Given the description of an element on the screen output the (x, y) to click on. 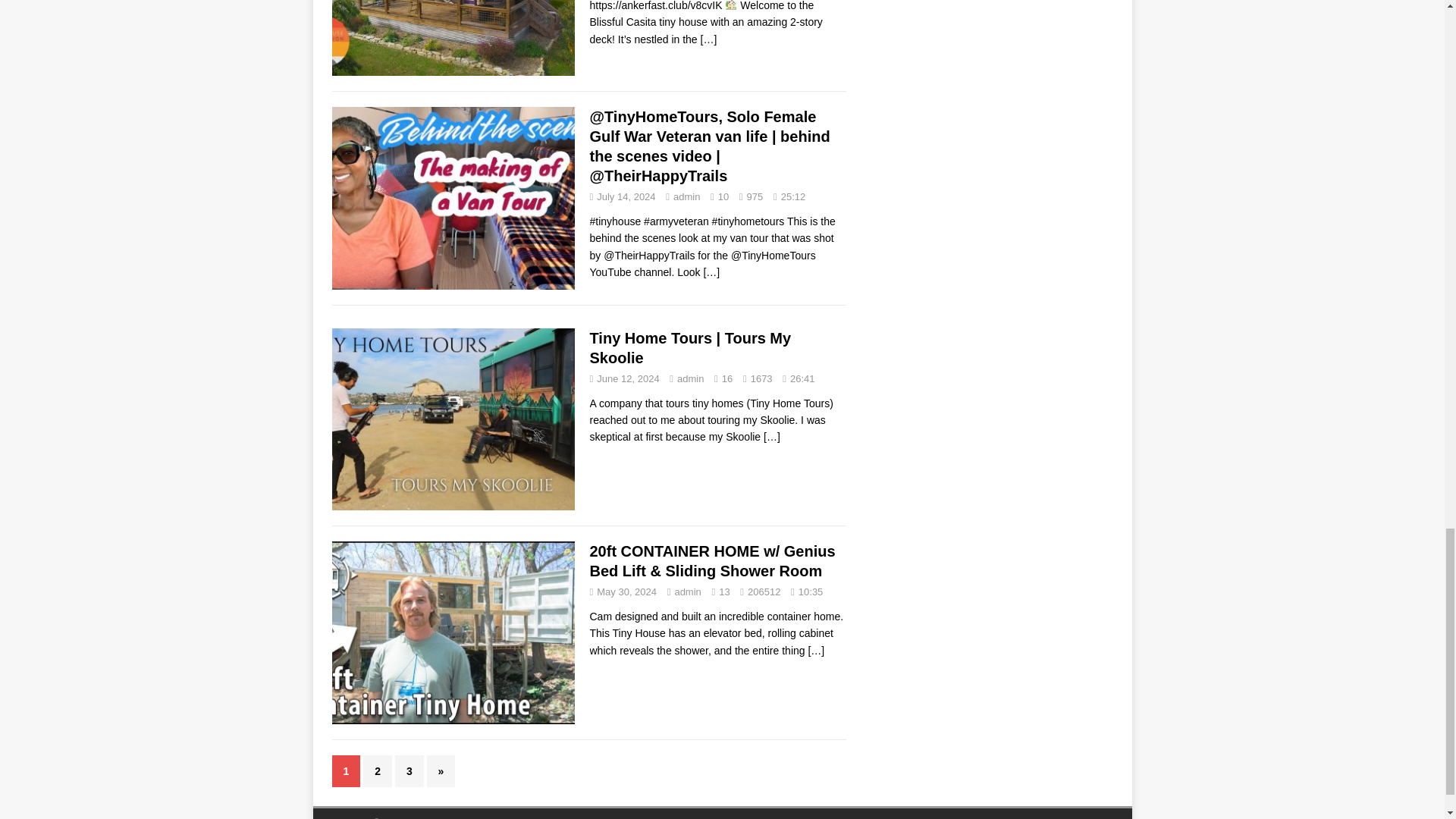
admin (686, 196)
